Given the description of an element on the screen output the (x, y) to click on. 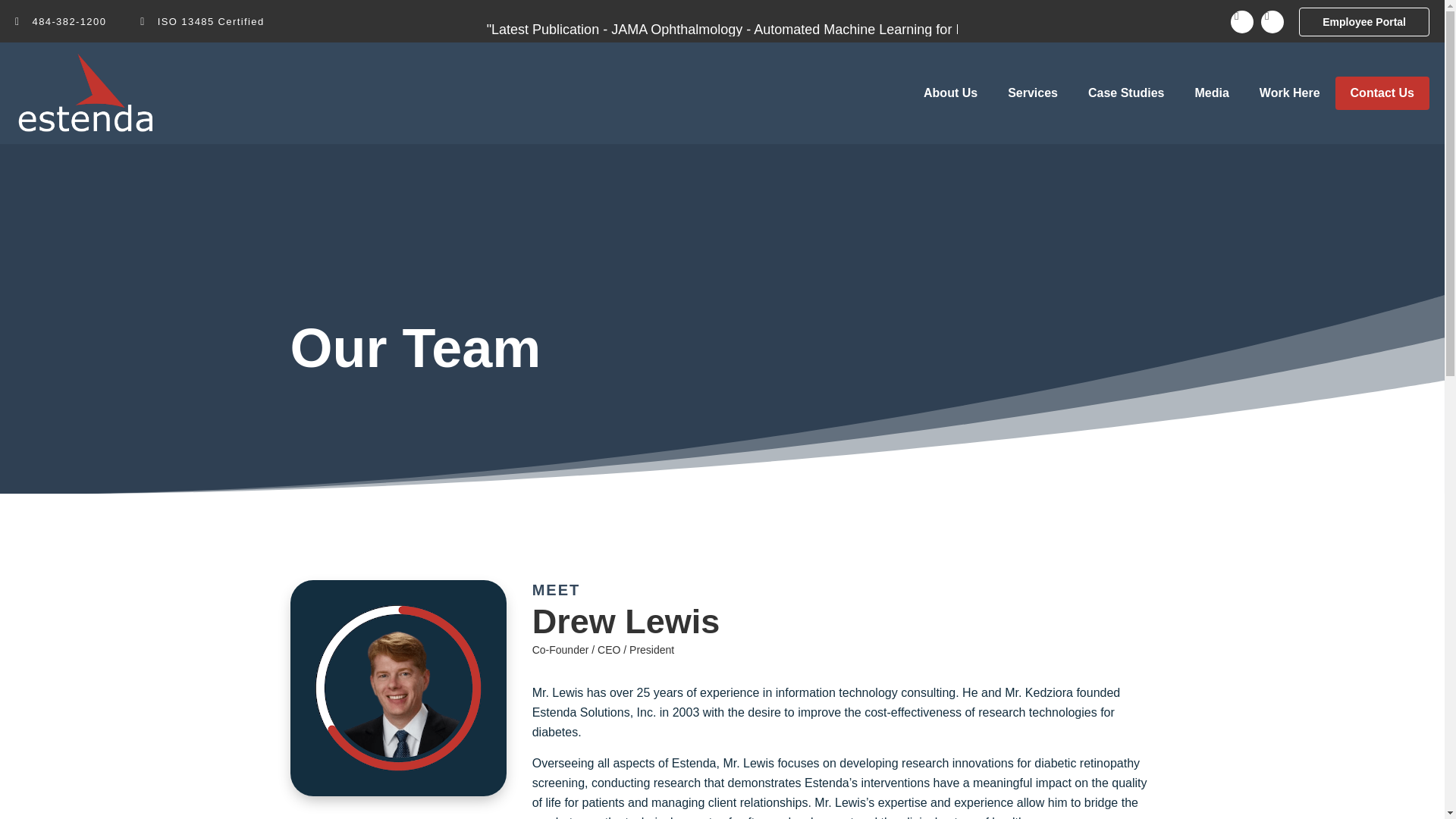
Media (1211, 92)
Contact Us (1382, 92)
Services (1032, 92)
484-382-1200 (60, 21)
Case Studies (1126, 92)
About Us (950, 92)
Work Here (1289, 92)
ISO 13485 Certified (201, 21)
Employee Portal (1363, 21)
